Given the description of an element on the screen output the (x, y) to click on. 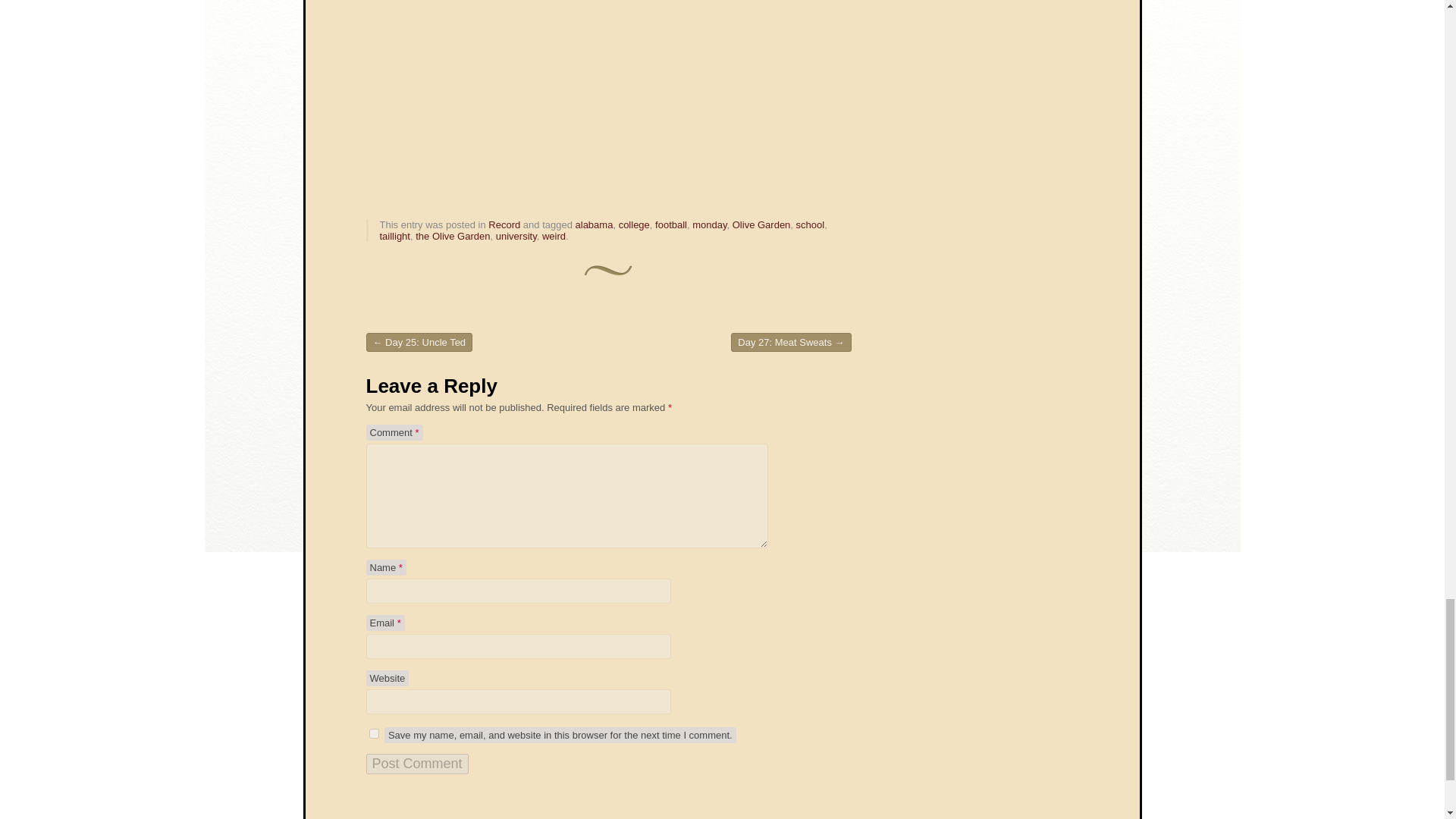
Post Comment (416, 763)
taillight (393, 235)
the Olive Garden (451, 235)
university (516, 235)
school (810, 224)
weird (553, 235)
Record (503, 224)
alabama (593, 224)
monday (709, 224)
Olive Garden (761, 224)
Advertisement (736, 87)
college (633, 224)
football (671, 224)
Post Comment (416, 763)
yes (373, 733)
